Given the description of an element on the screen output the (x, y) to click on. 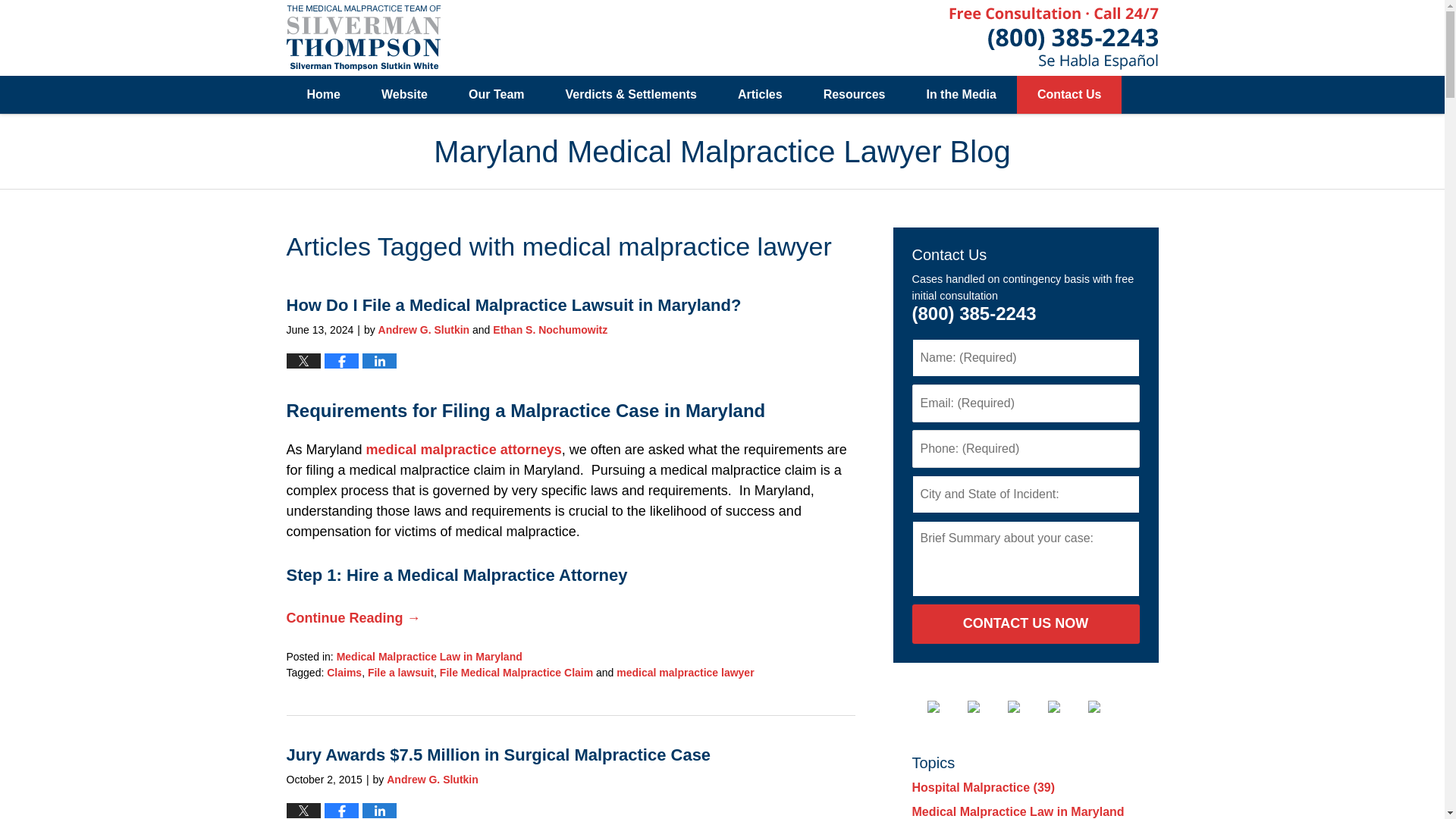
Published By Silverman Thompson (1053, 36)
medical malpractice attorneys (464, 449)
medical malpractice lawyer (684, 672)
Website (404, 94)
Andrew G. Slutkin (433, 779)
View all posts tagged with medical malpractice lawyer (684, 672)
View all posts tagged with Claims (343, 672)
Maryland Medical Malpractice Lawyer Blog (363, 37)
Resources (854, 94)
